Given the description of an element on the screen output the (x, y) to click on. 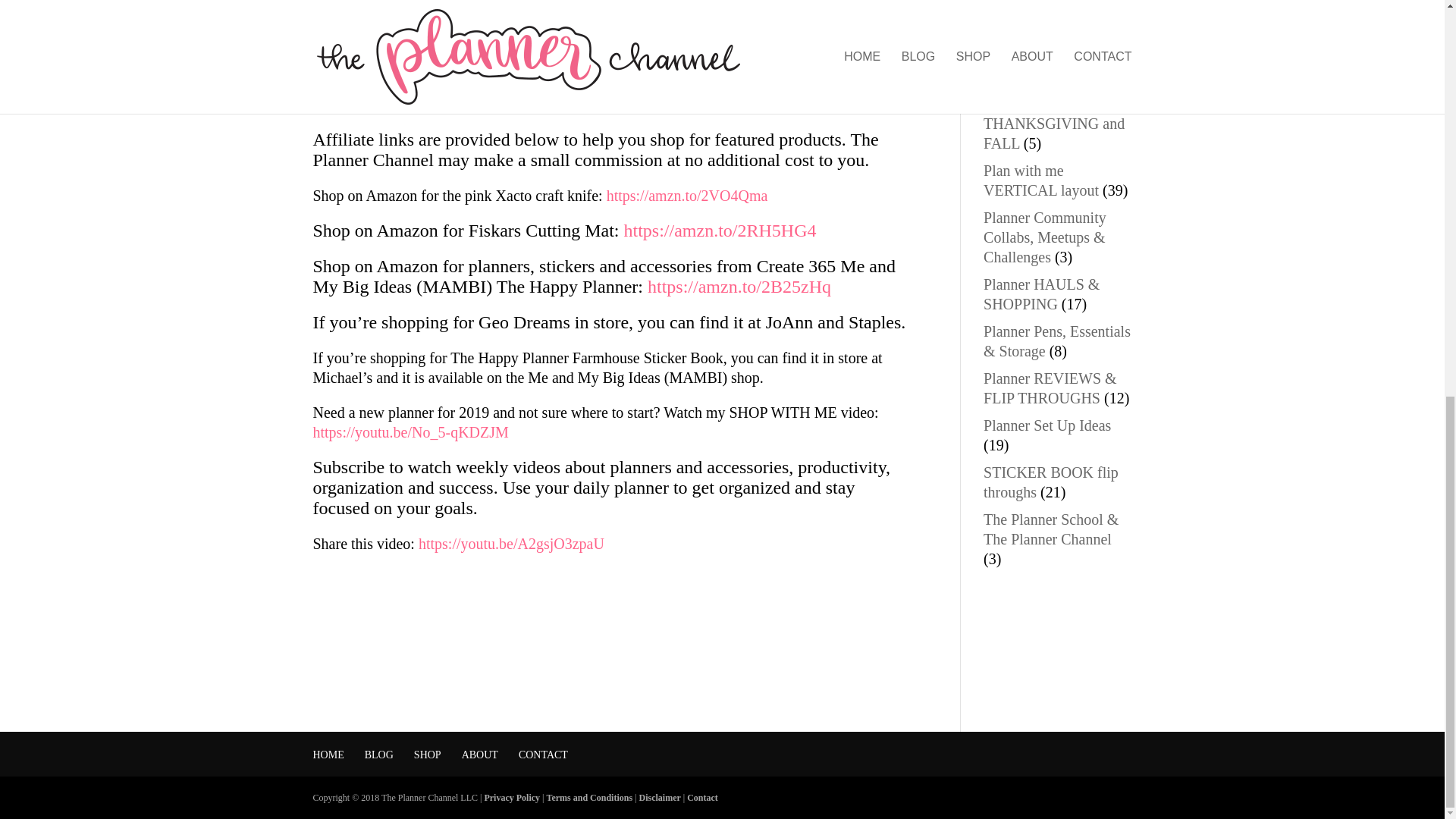
SHOP (427, 754)
Plan with me SPRING and FLORALS (1052, 9)
HOME (328, 754)
Plan with me SUMMER and BRIGHTS (1029, 56)
BLOG (379, 754)
Plan with me VERTICAL layout (1041, 180)
STICKER BOOK flip throughs (1051, 482)
ABOUT (479, 754)
Plan with me THANKSGIVING and FALL (1054, 123)
Planner Set Up Ideas (1047, 425)
